Given the description of an element on the screen output the (x, y) to click on. 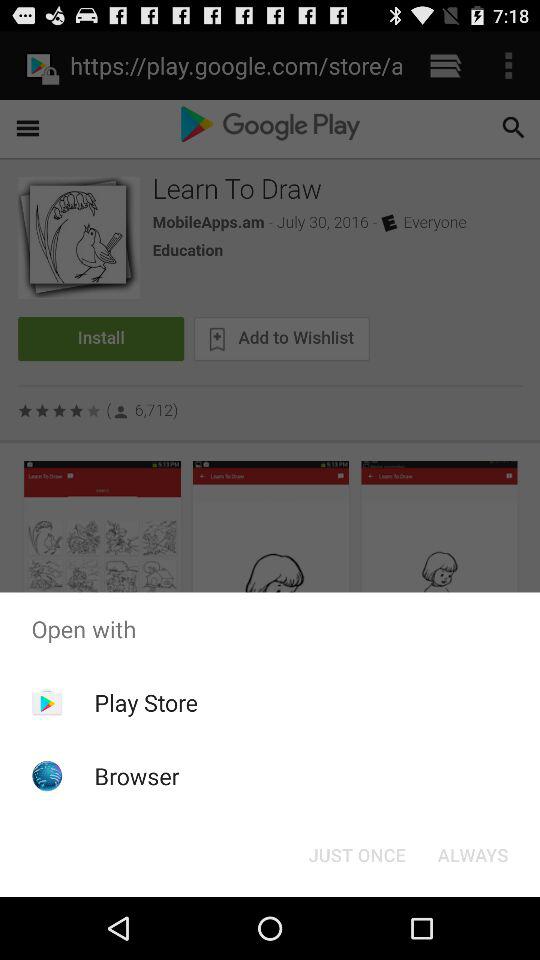
press the app below open with icon (472, 854)
